Given the description of an element on the screen output the (x, y) to click on. 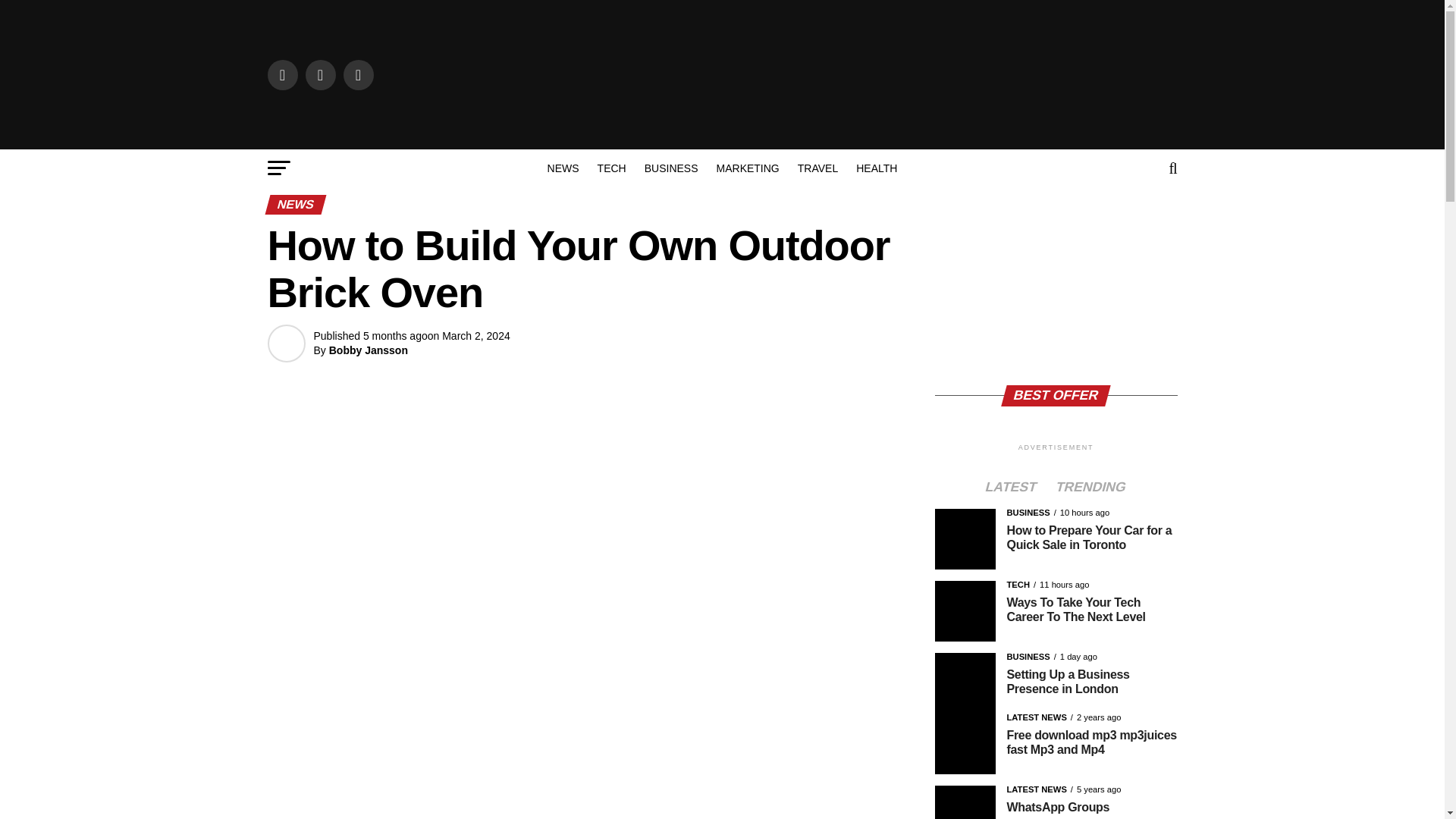
TECH (611, 168)
TRAVEL (818, 168)
BUSINESS (670, 168)
Bobby Jansson (368, 349)
NEWS (563, 168)
MARKETING (748, 168)
Posts by Bobby Jansson (368, 349)
HEALTH (876, 168)
